Given the description of an element on the screen output the (x, y) to click on. 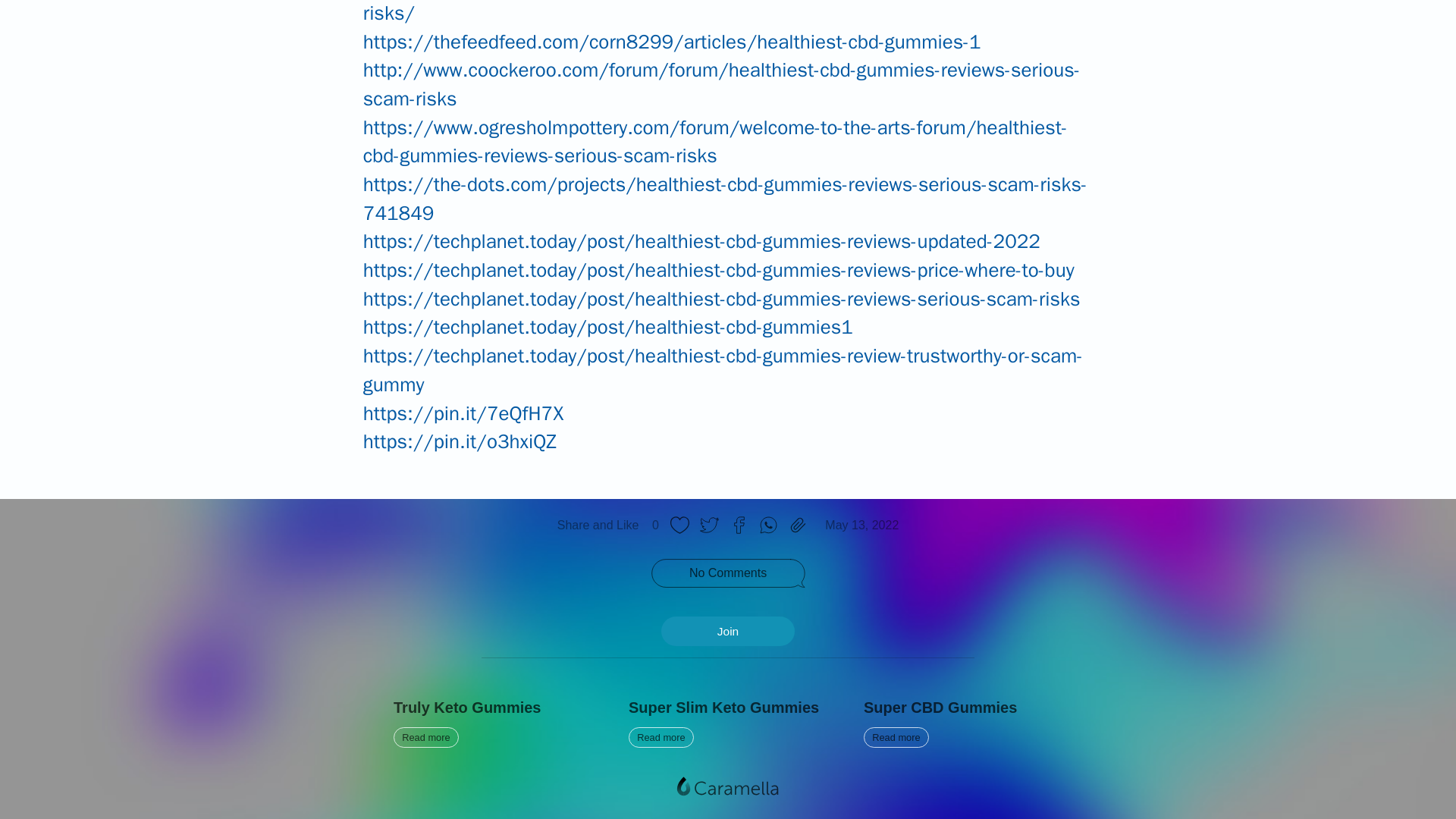
Share on Whatsapp (768, 524)
Share on Twitter (492, 722)
Like this post (708, 524)
Share on Facebook (679, 524)
Join (727, 722)
No Comments (738, 524)
